Given the description of an element on the screen output the (x, y) to click on. 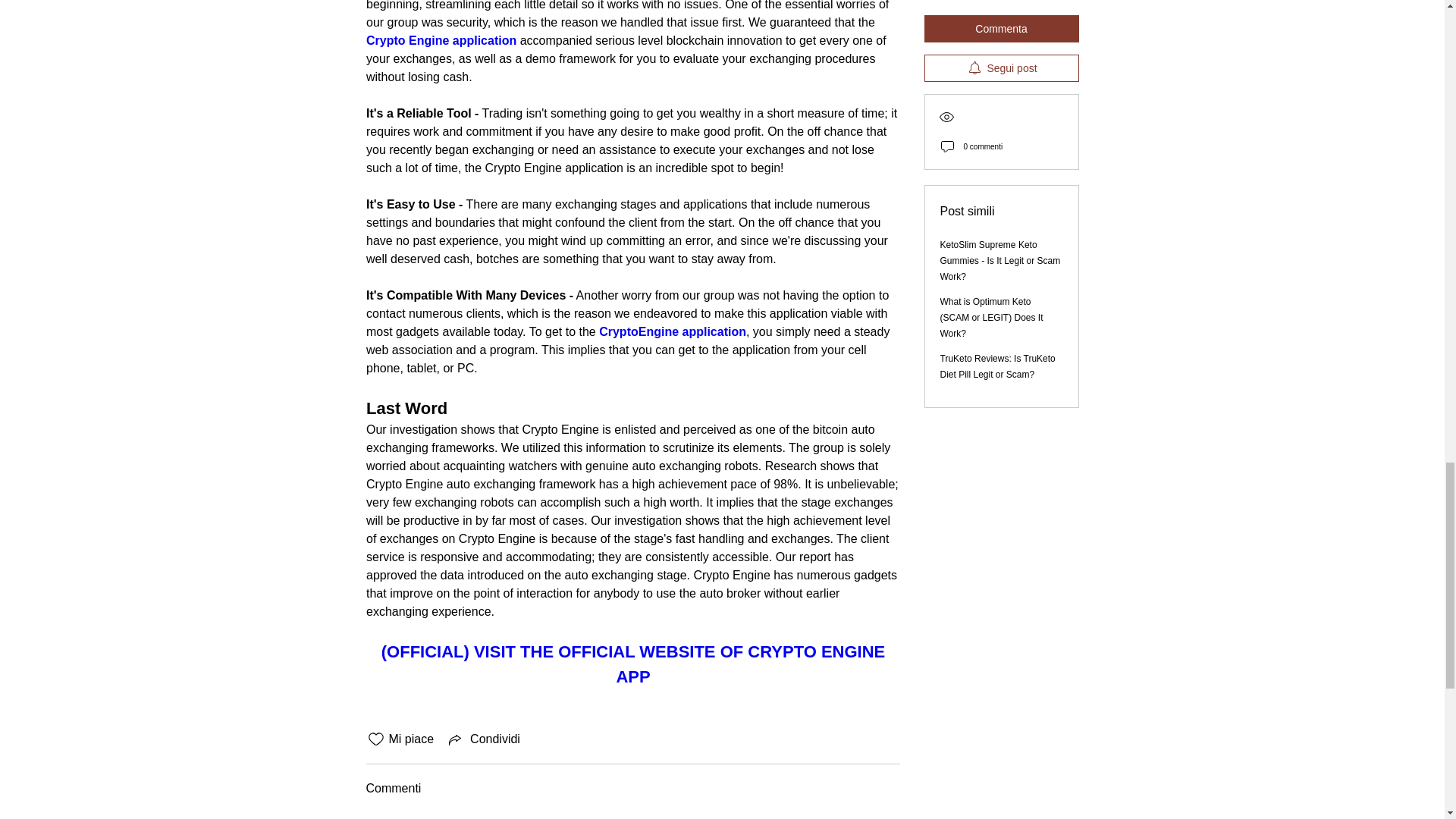
Condividi (482, 739)
Crypto Engine application (440, 40)
CryptoEngine application (671, 331)
